Given the description of an element on the screen output the (x, y) to click on. 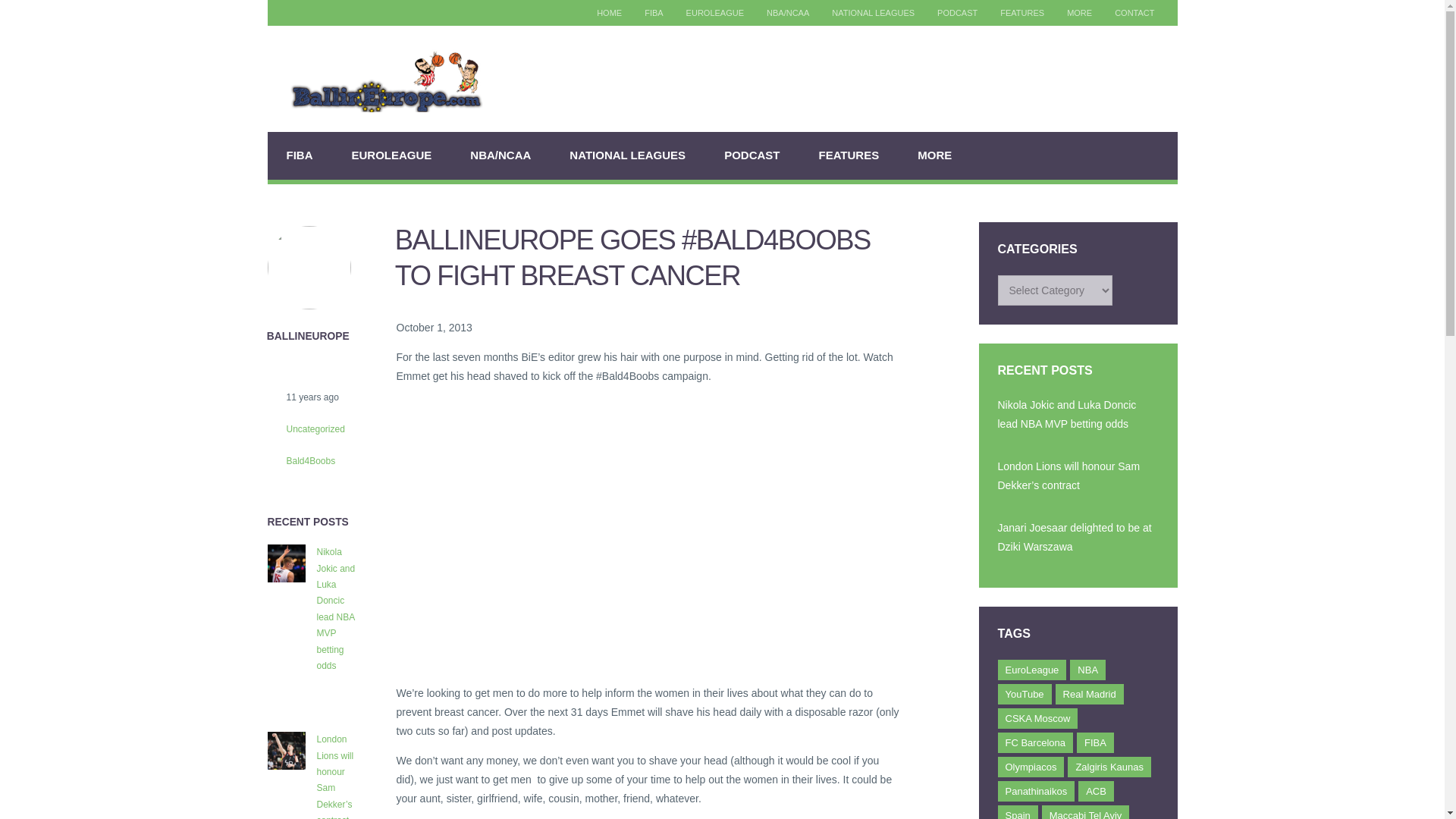
Nikola Jokic and Luka Doncic lead NBA MVP betting odds (1077, 414)
Janari Joesaar delighted to be at Dziki Warszawa (1077, 537)
Bald4Boobs (300, 460)
Twitter (291, 12)
NATIONAL LEAGUES (627, 155)
FIBA (653, 13)
HOME (609, 13)
MORE (1079, 13)
Uncategorized (304, 428)
PODCAST (957, 13)
